Given the description of an element on the screen output the (x, y) to click on. 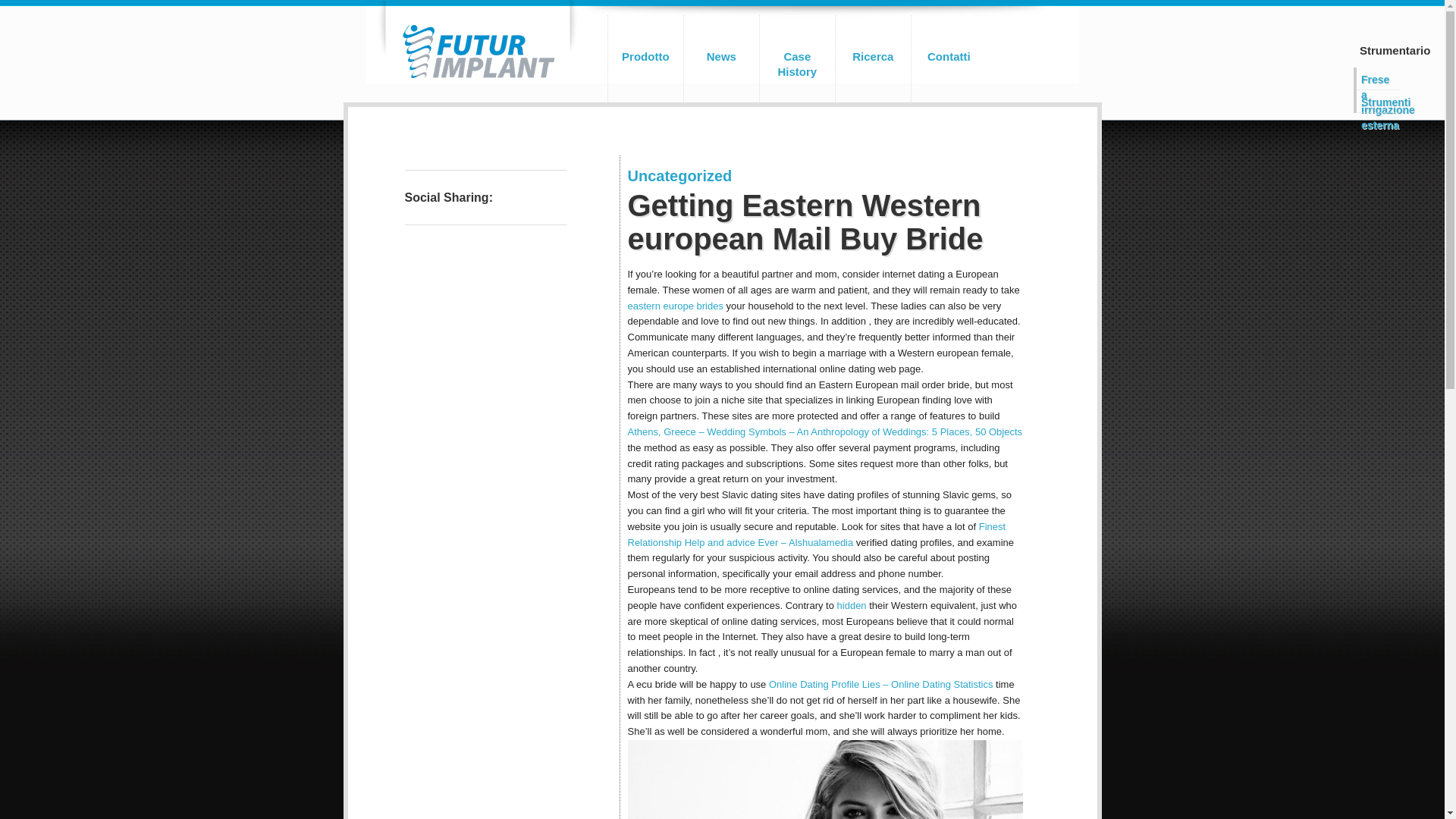
Uncategorized (679, 175)
Frese a irrigazione esterna (1376, 77)
hidden (851, 604)
eastern europe brides (675, 306)
Strumenti (1376, 100)
